Given the description of an element on the screen output the (x, y) to click on. 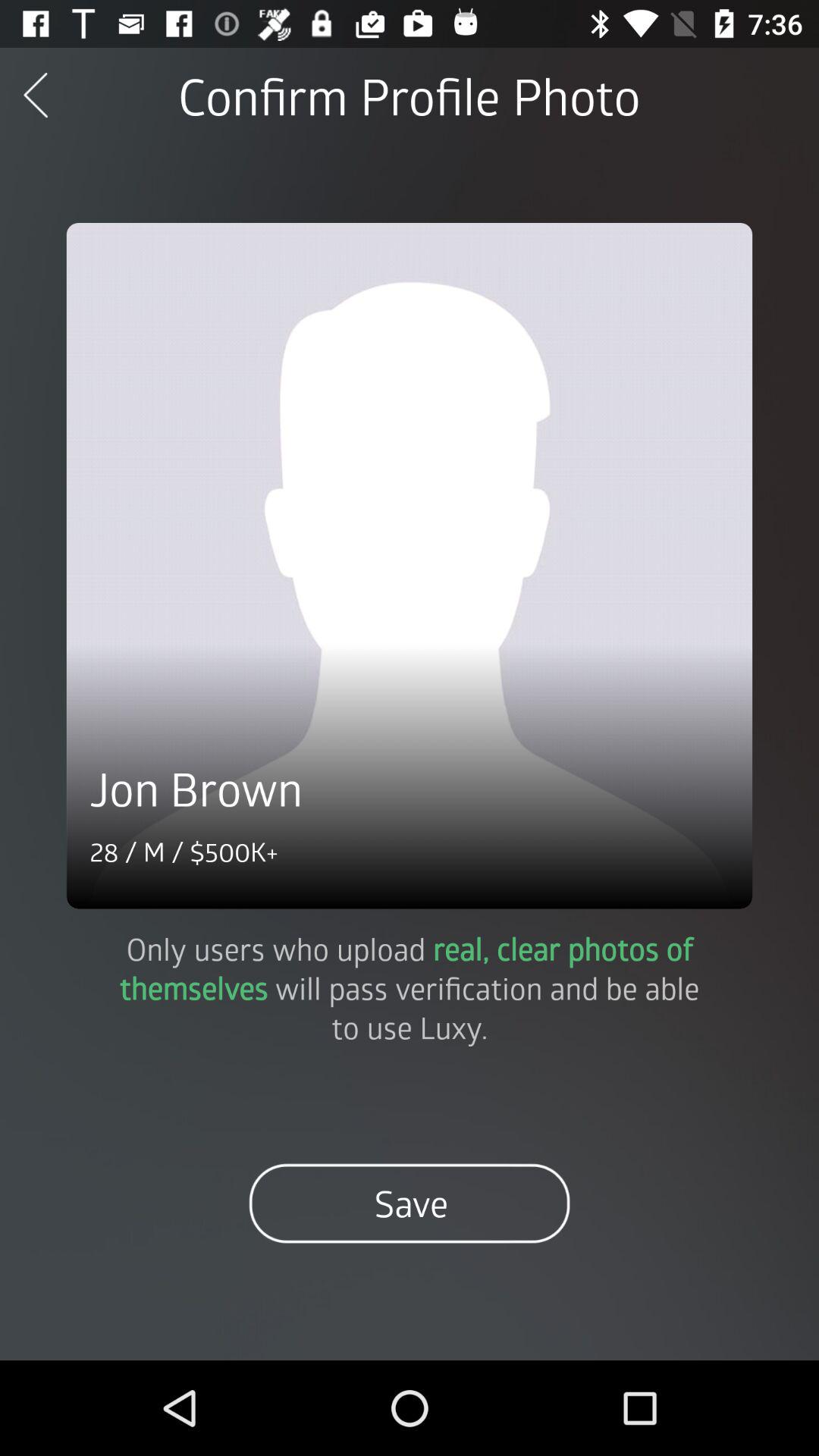
press the item below the only users who icon (409, 1203)
